Given the description of an element on the screen output the (x, y) to click on. 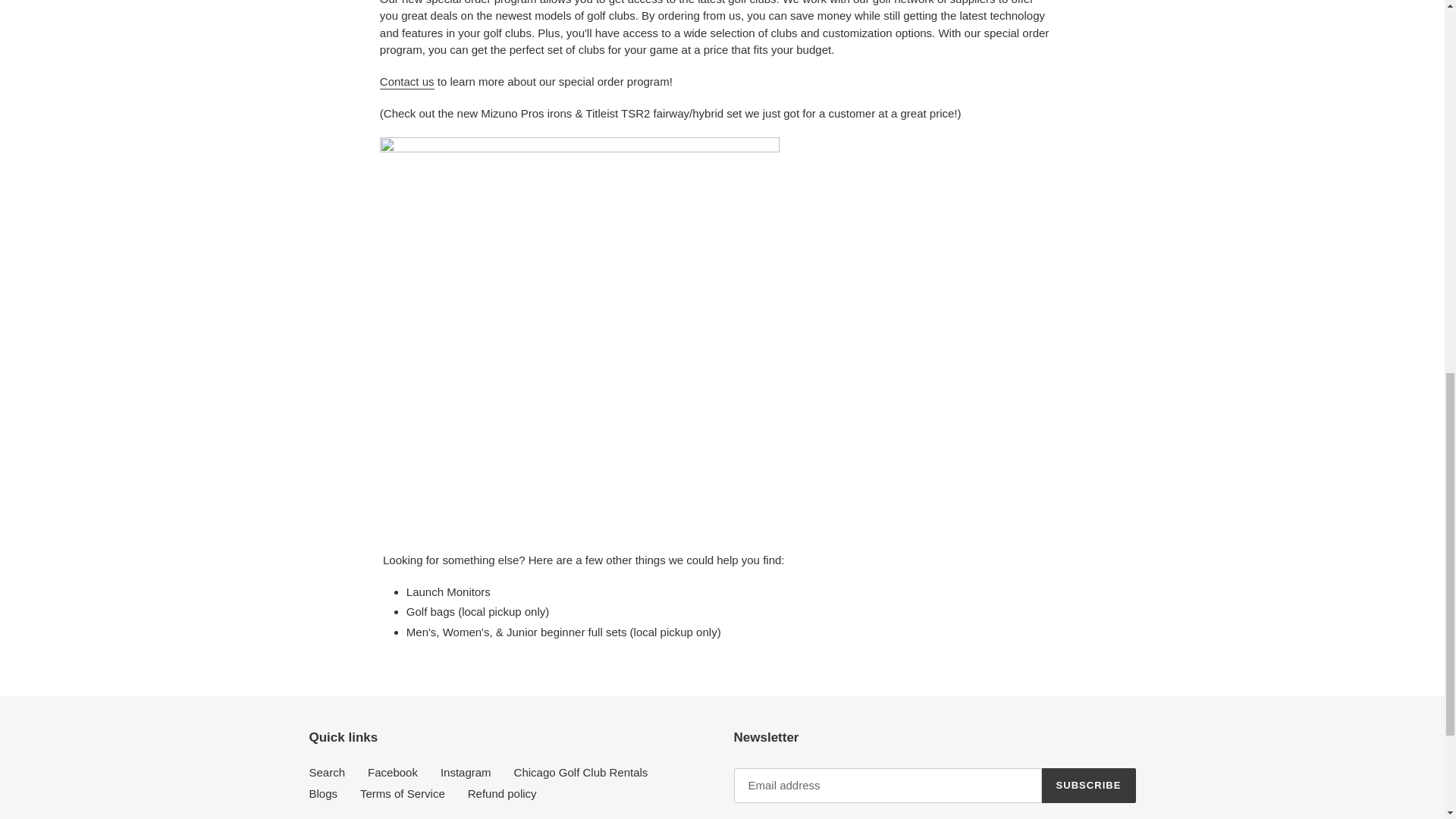
Blogs (322, 793)
Contact us (406, 82)
Facebook (392, 771)
Search (327, 771)
Chicago Golf Club Rentals (580, 771)
Instagram (466, 771)
Terms of Service (402, 793)
